Given the description of an element on the screen output the (x, y) to click on. 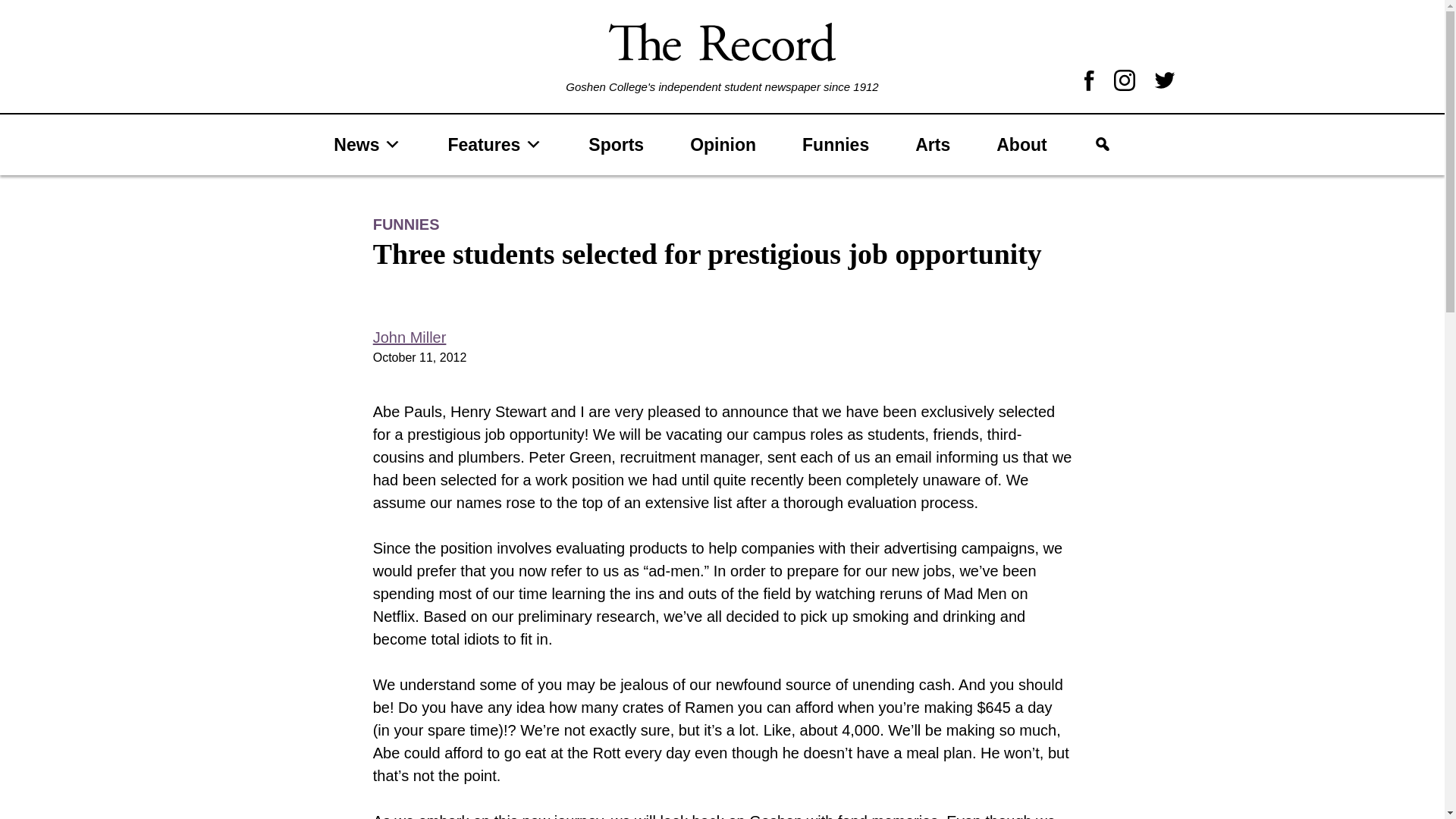
About (1021, 144)
Features (494, 144)
John Miller (409, 337)
Arts (932, 144)
News (367, 144)
Funnies (834, 144)
Opinion (722, 144)
Sports (616, 144)
